Given the description of an element on the screen output the (x, y) to click on. 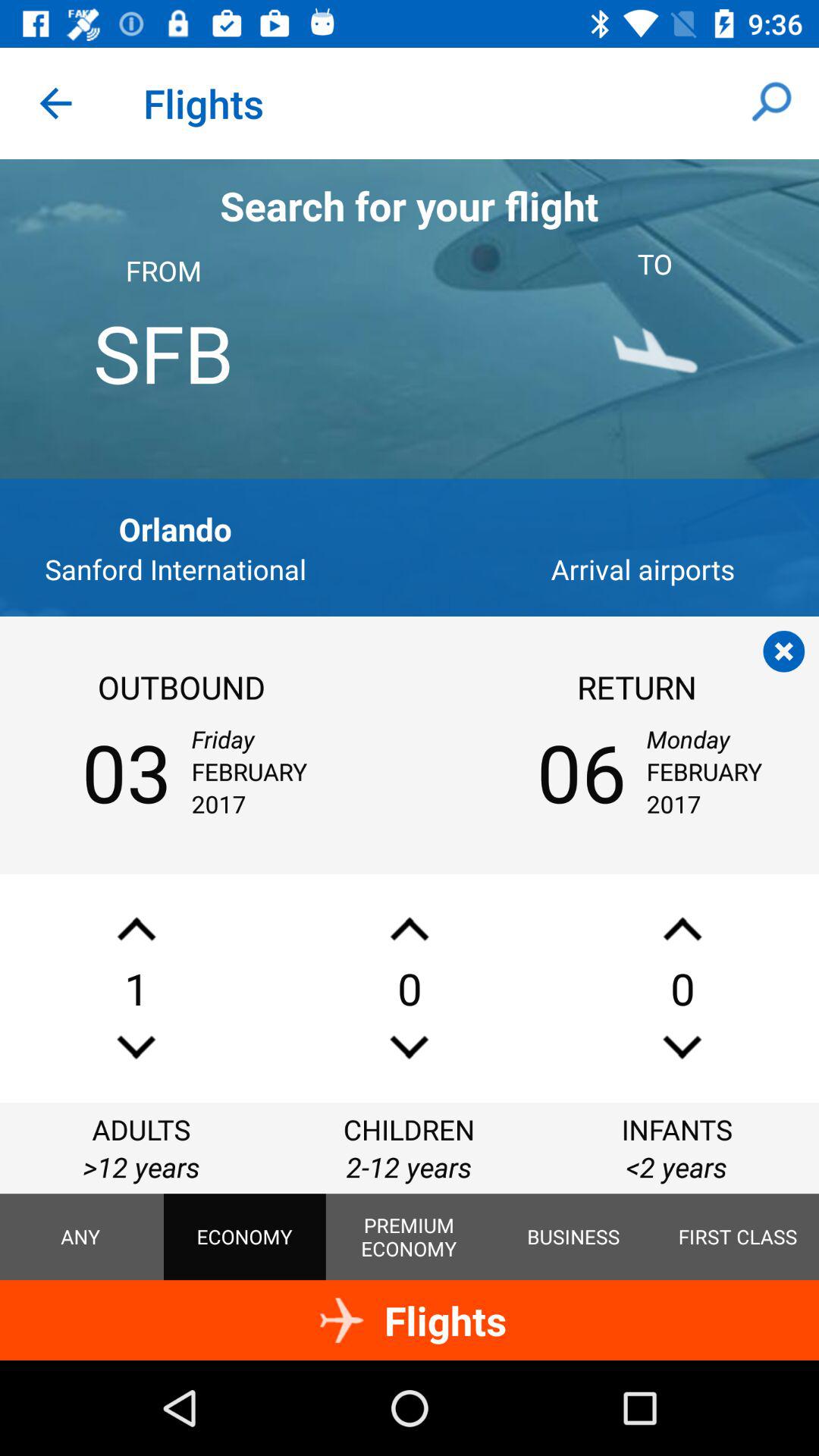
decrease number (682, 1047)
